Given the description of an element on the screen output the (x, y) to click on. 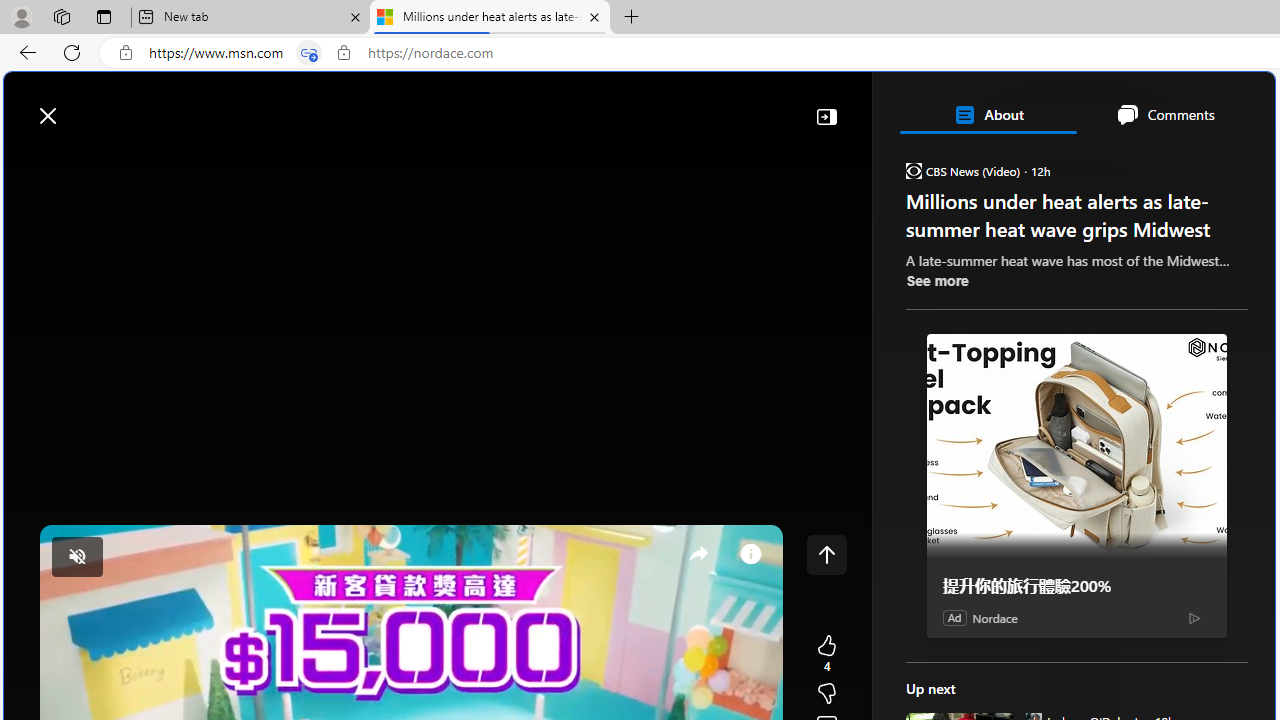
The Associated Press (974, 645)
Collapse (826, 115)
4 Like (826, 653)
Tabs in split screen (308, 53)
Open settings (1230, 105)
Web search (283, 105)
